Given the description of an element on the screen output the (x, y) to click on. 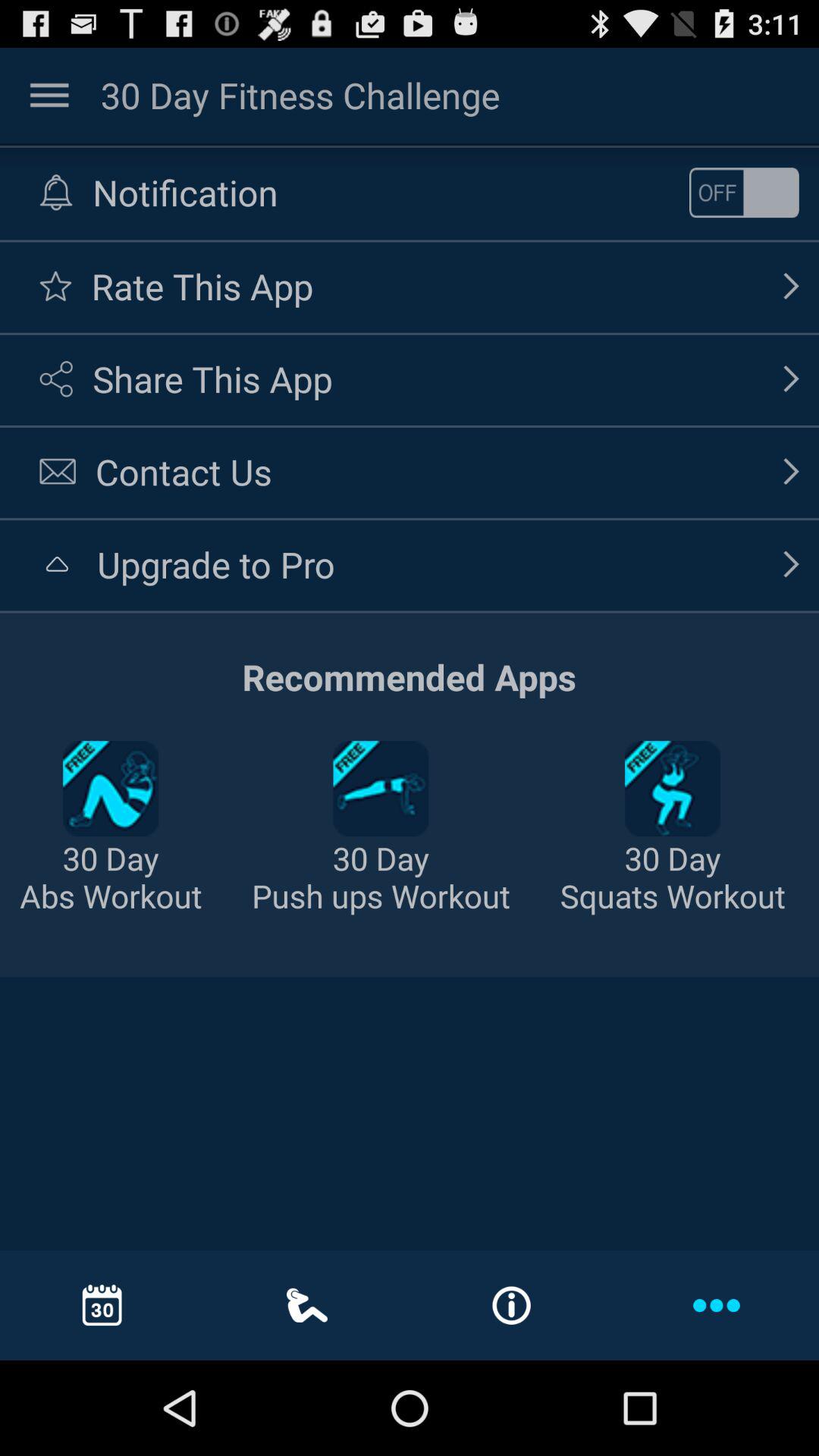
click information icon (511, 1305)
select the icon left to contact us (58, 471)
go to the second option in recommended apps (381, 788)
click on icon on the right to upgrade to pro (791, 563)
go to three dot icon in blue color at the bottom right corner (716, 1304)
select the icon which is right to the text rate this app (791, 286)
click on the bell image option to the left of the text notification (56, 192)
